Given the description of an element on the screen output the (x, y) to click on. 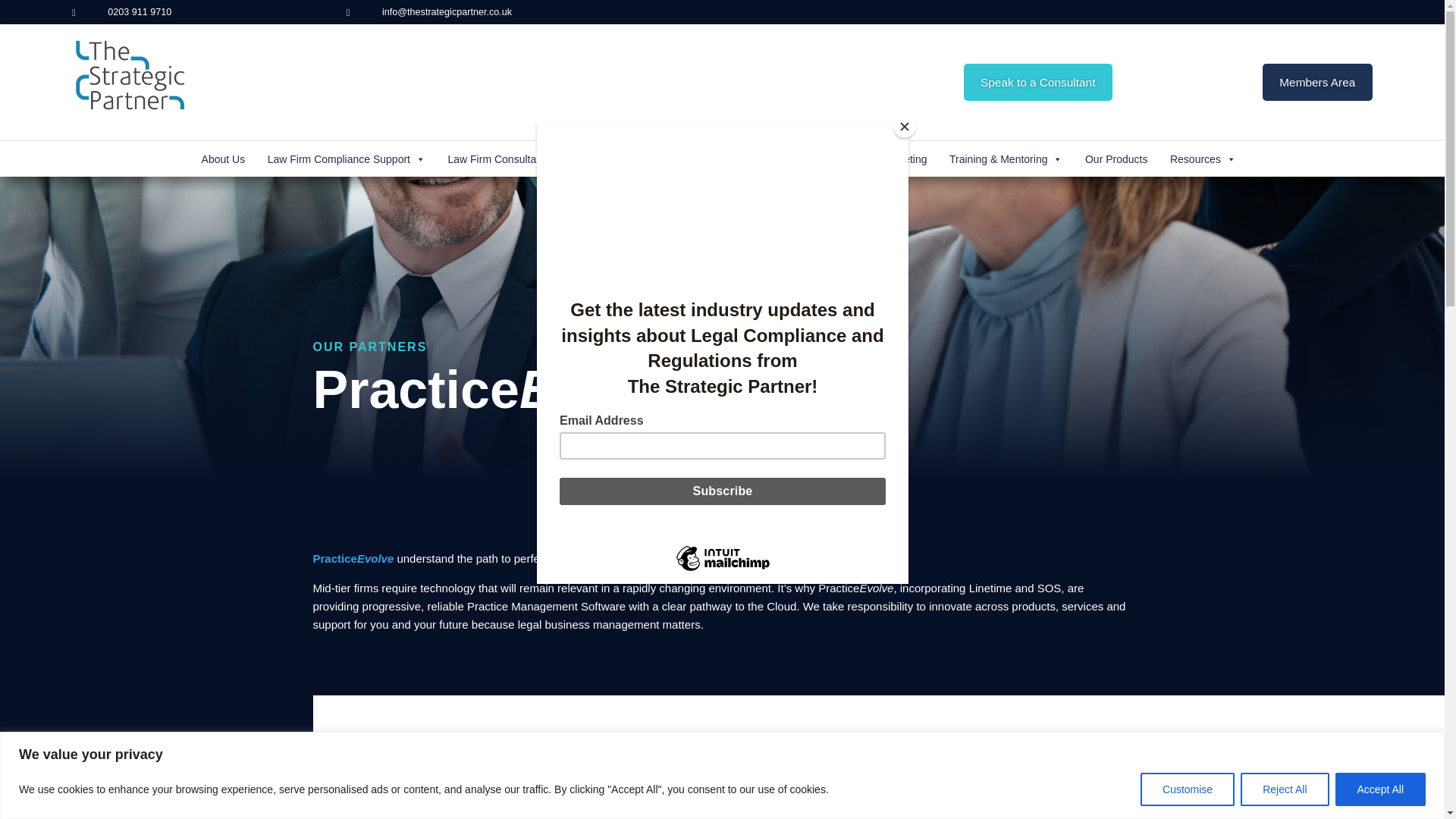
Reject All (1283, 788)
TSP High Res Logo - Transparent - Dark (130, 74)
About Us (223, 159)
PracticeEvolve Logo Transparent (907, 776)
Accept All (1380, 788)
Speak to a Consultant (1037, 81)
Law Firm Compliance Support (346, 159)
Members Area (1316, 81)
Customise (1187, 788)
Law Firm Consultancy (507, 159)
